Given the description of an element on the screen output the (x, y) to click on. 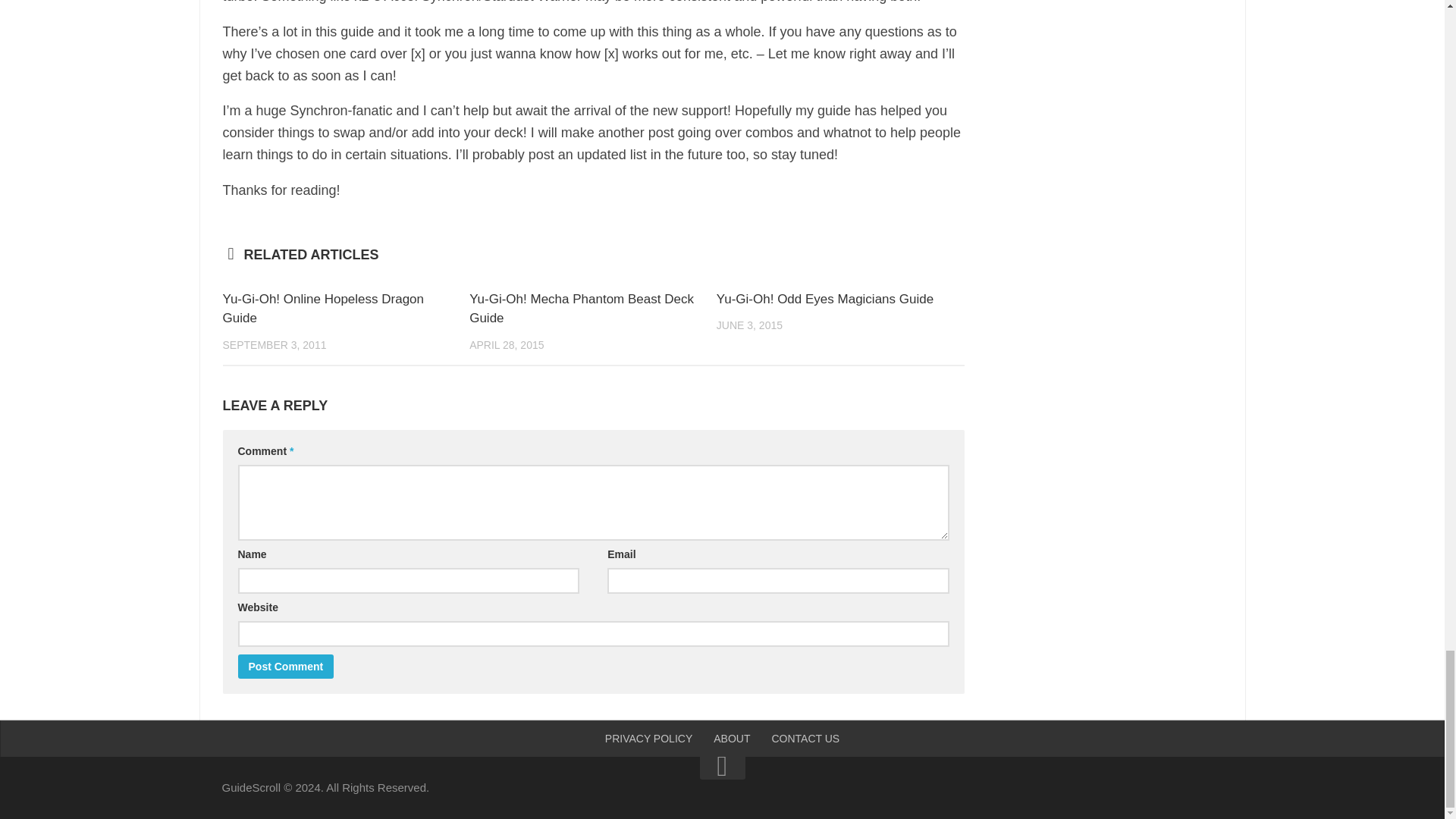
ABOUT (731, 738)
Yu-Gi-Oh! Odd Eyes Magicians Guide (824, 298)
Post Comment (286, 666)
PRIVACY POLICY (648, 738)
Yu-Gi-Oh! Online Hopeless Dragon Guide (323, 308)
Post Comment (286, 666)
CONTACT US (805, 738)
Yu-Gi-Oh! Mecha Phantom Beast Deck Guide (581, 308)
